Given the description of an element on the screen output the (x, y) to click on. 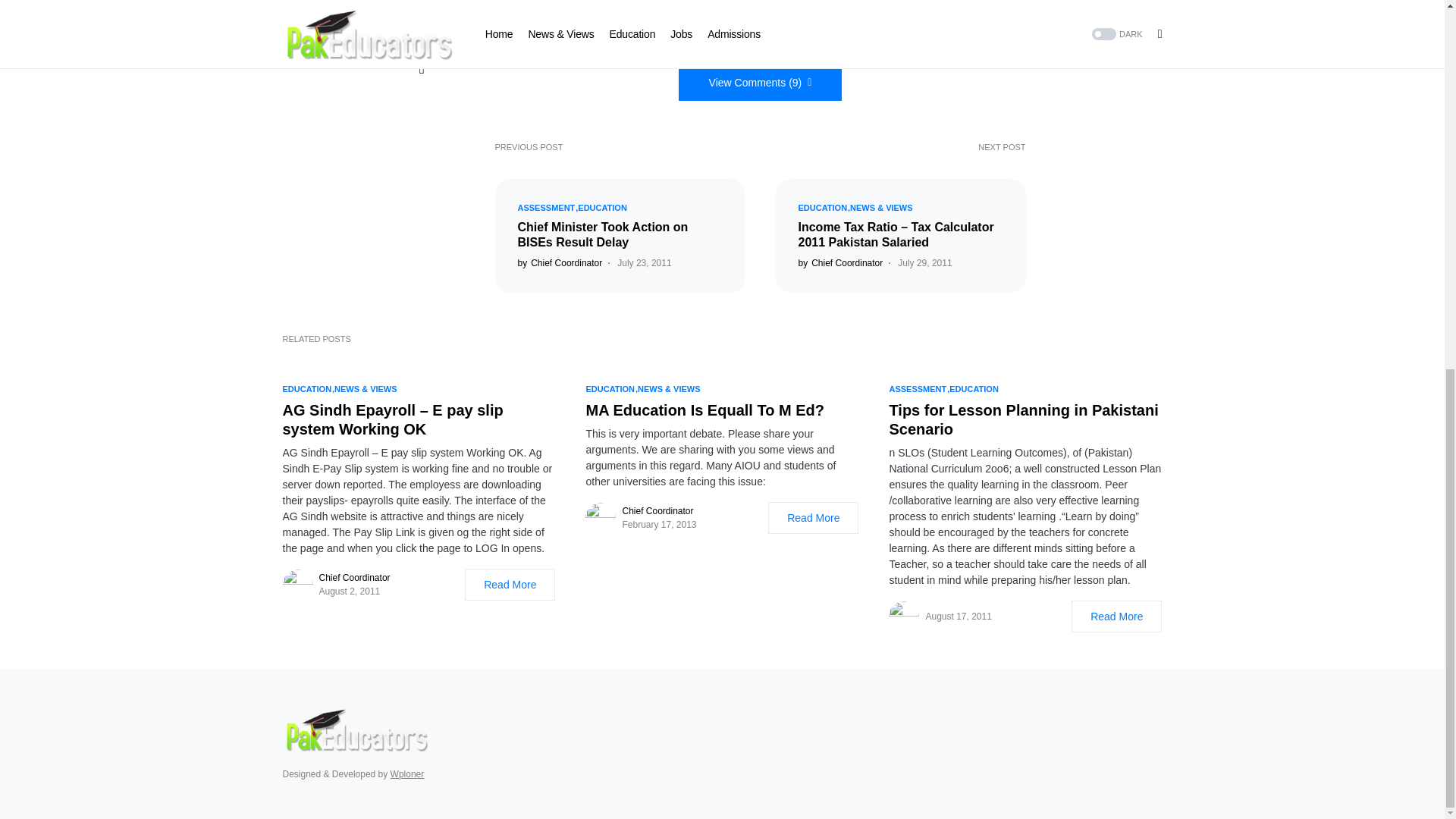
View all posts by Chief Coordinator (559, 263)
View all posts by Chief Coordinator (839, 263)
